Given the description of an element on the screen output the (x, y) to click on. 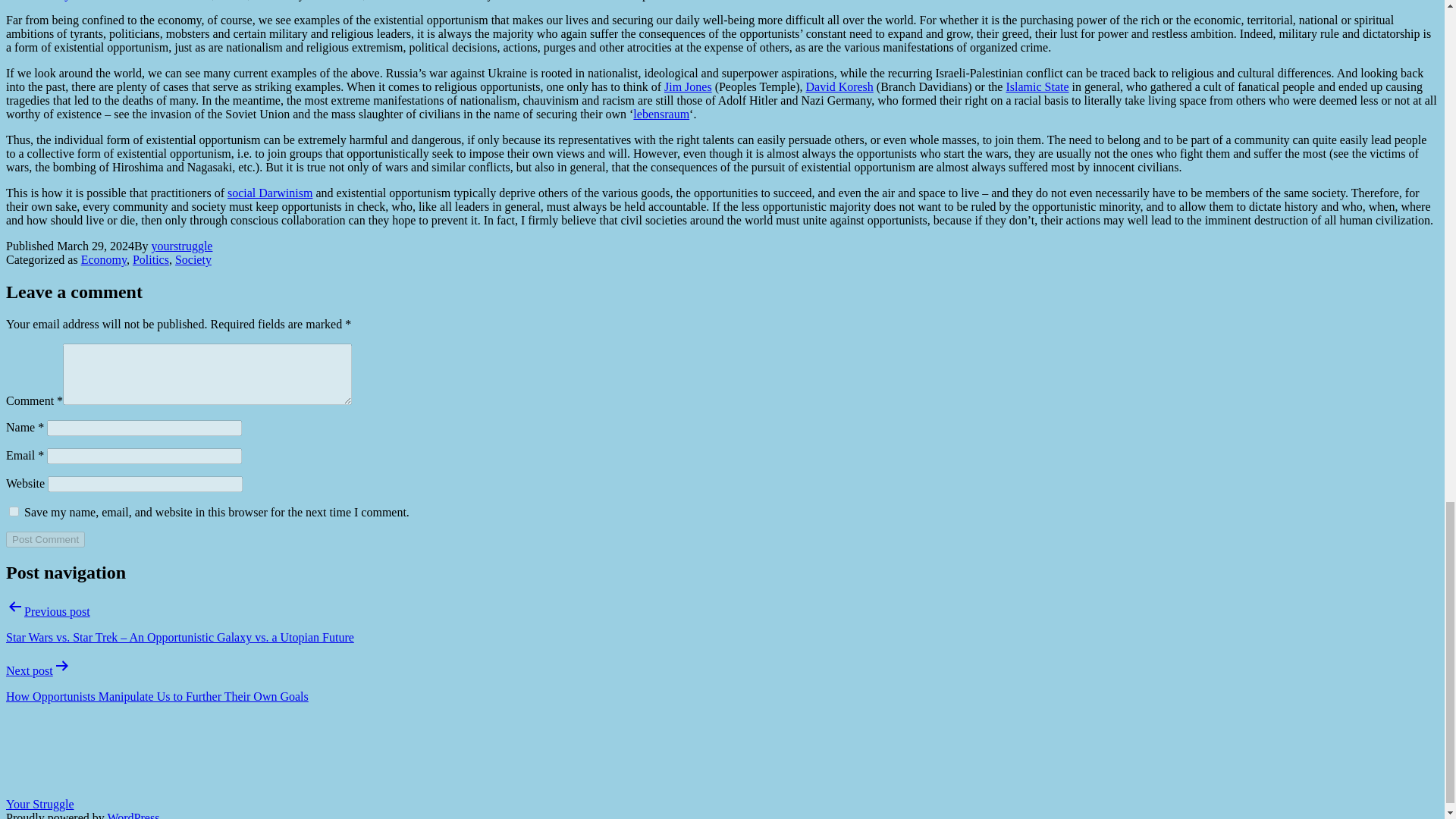
social Darwinism (270, 192)
Jim Jones (687, 86)
Politics (150, 259)
Post Comment (44, 539)
David Koresh (839, 86)
Society (192, 259)
yes (13, 511)
Your Struggle (39, 803)
Islamic State (1037, 86)
lebensraum (660, 113)
yourstruggle (181, 245)
Post Comment (44, 539)
Economy (103, 259)
